Given the description of an element on the screen output the (x, y) to click on. 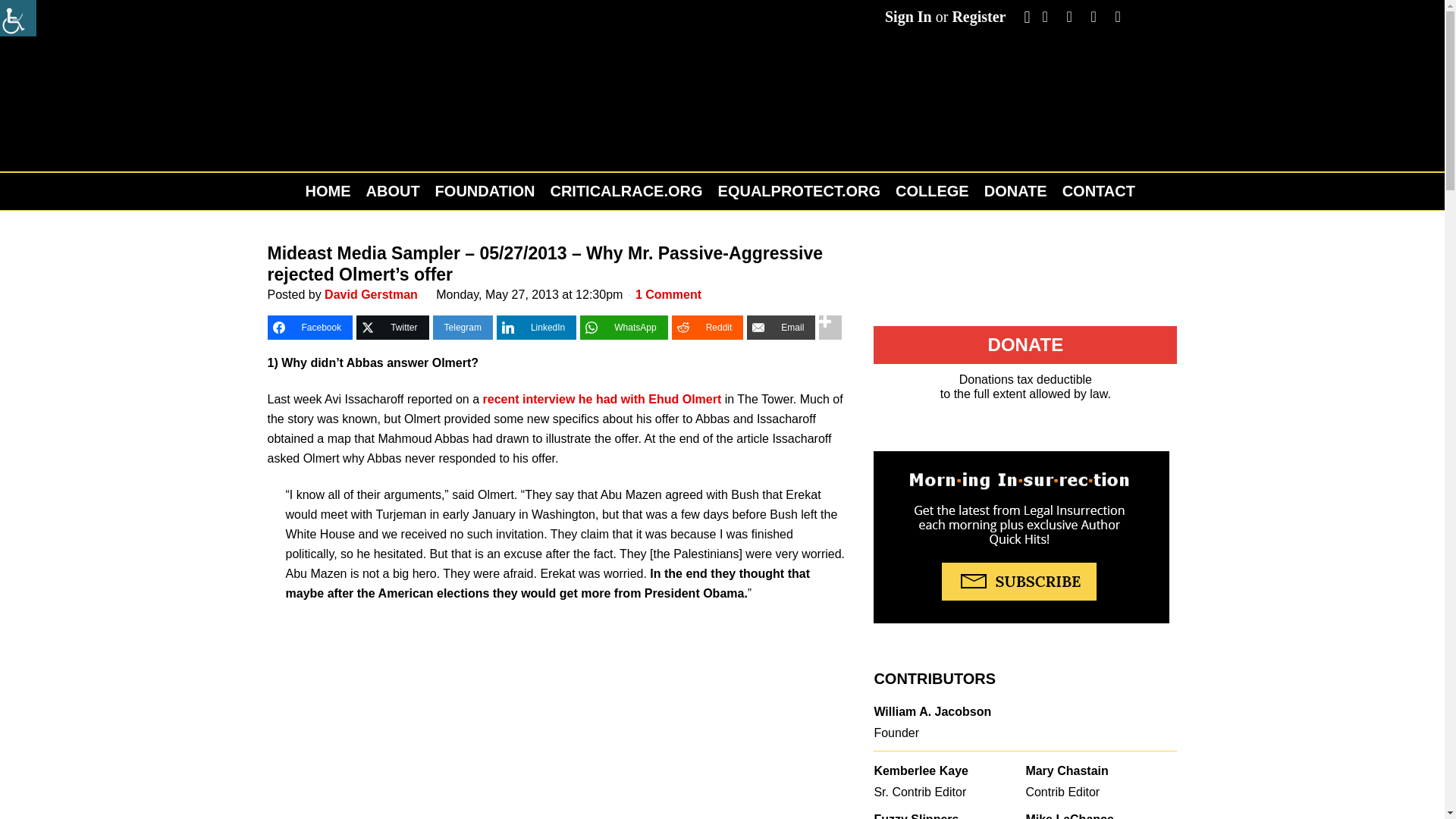
Share on Twitter (392, 327)
Share on More (829, 327)
FOUNDATION (485, 190)
Share on Telegram (462, 327)
Share on Email (780, 327)
Share on LinkedIn (536, 327)
David Gerstman (370, 294)
Facebook (309, 327)
Telegram (462, 327)
EQUALPROTECT.ORG (799, 190)
